Given the description of an element on the screen output the (x, y) to click on. 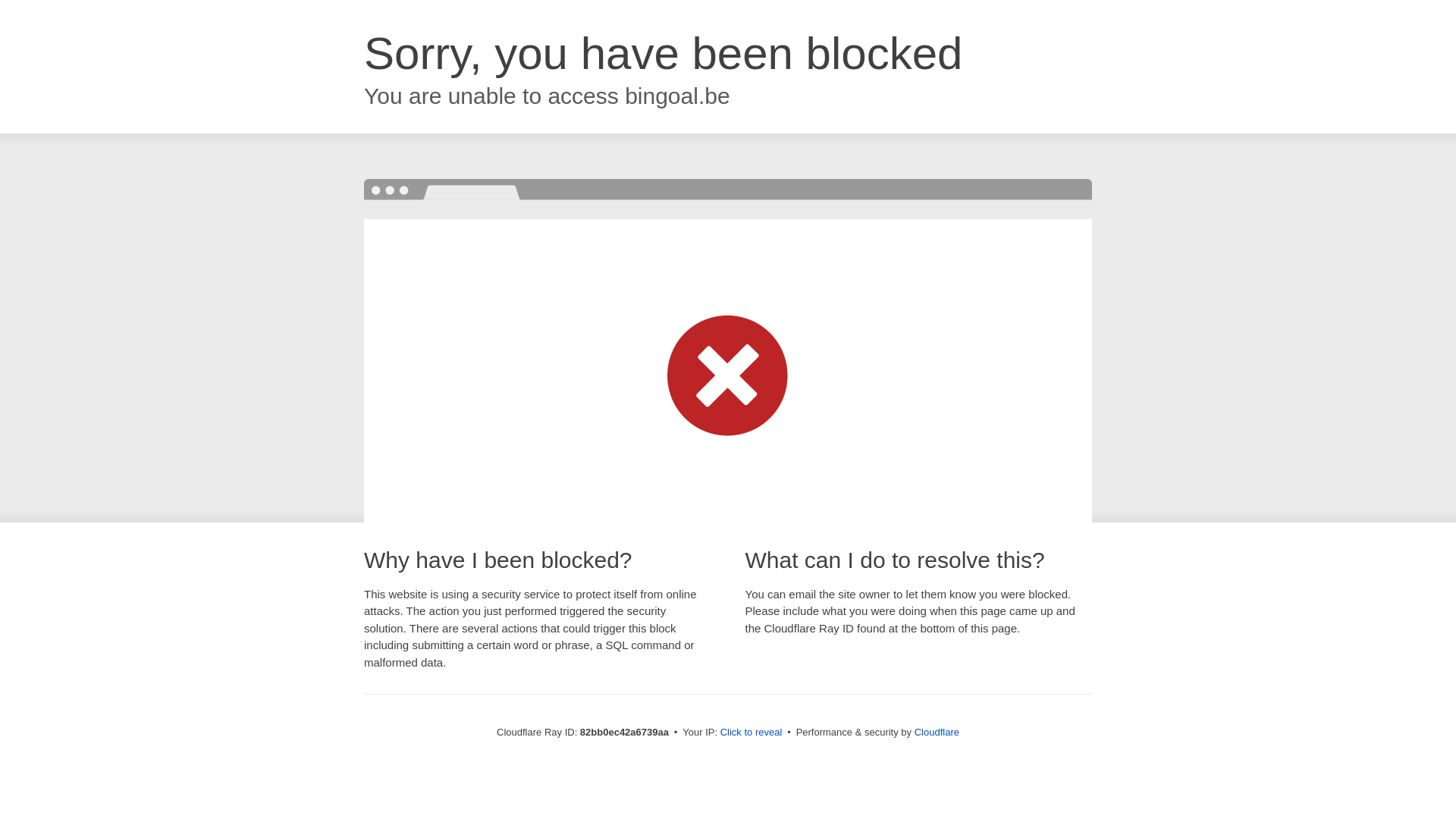
Cloudflare Element type: text (936, 731)
Click to reveal Element type: text (751, 732)
